Given the description of an element on the screen output the (x, y) to click on. 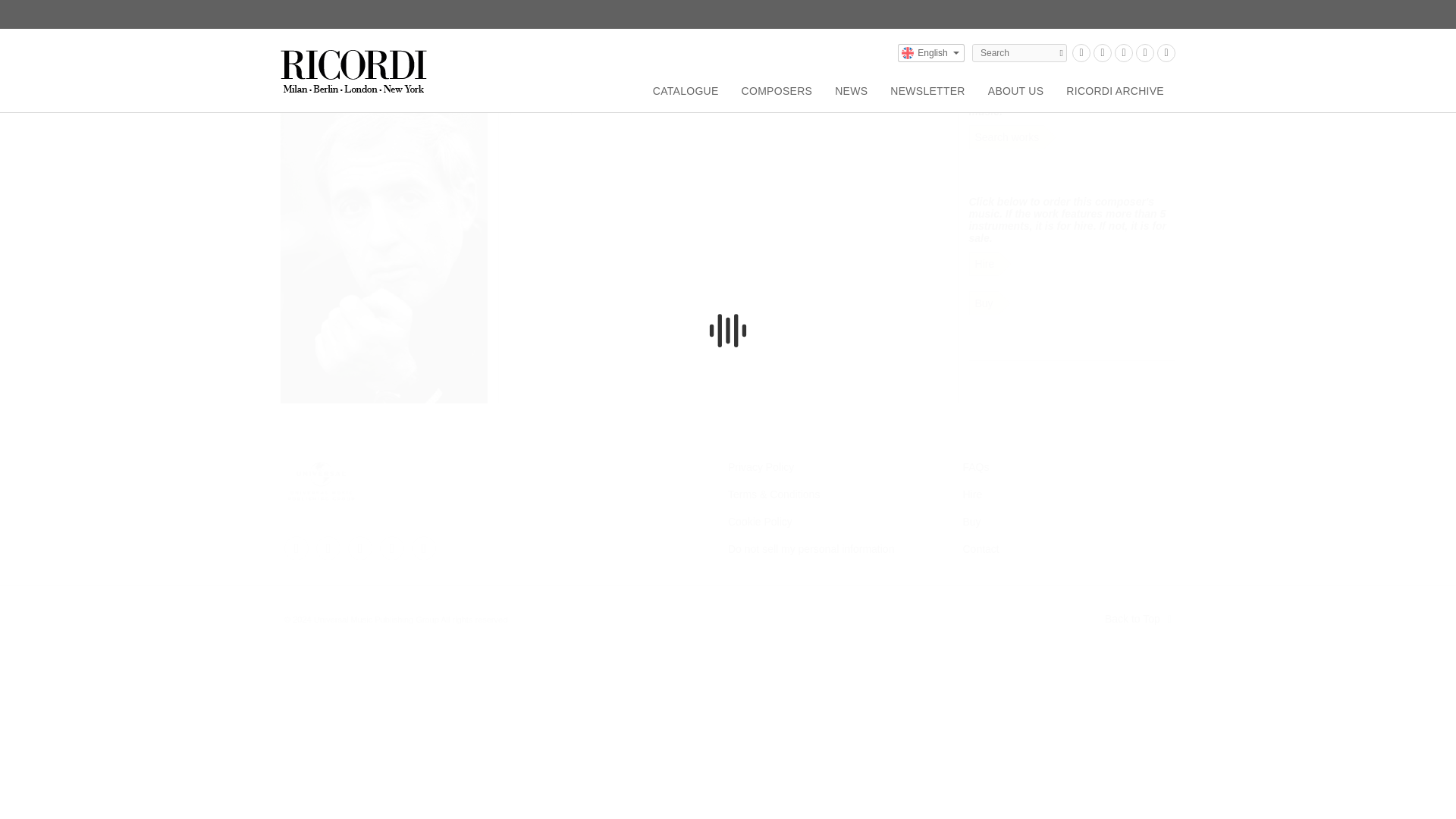
CATALOGUE (686, 94)
return to the homepage (355, 65)
English (930, 53)
